Given the description of an element on the screen output the (x, y) to click on. 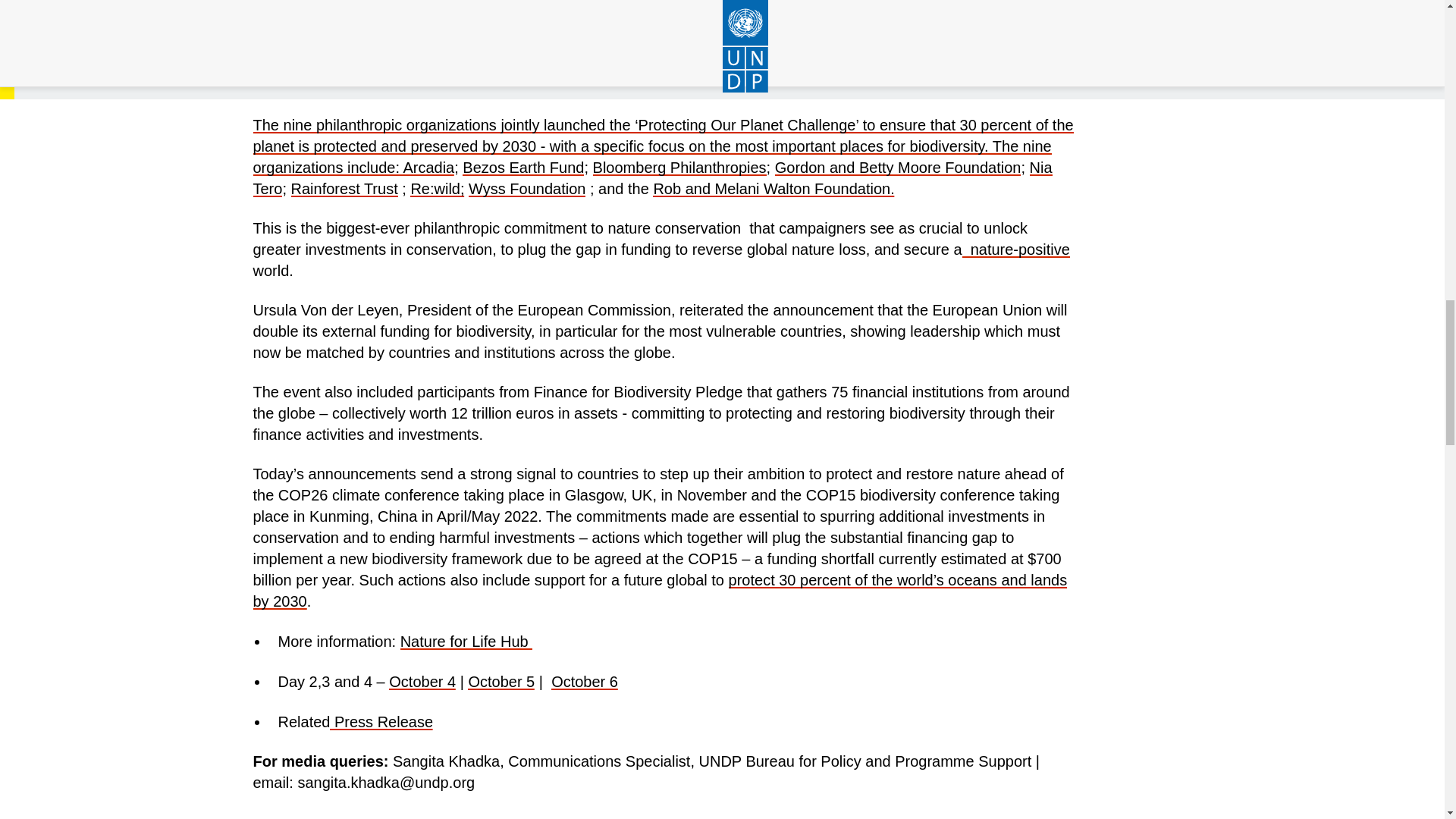
  nature-positive (1016, 248)
Wyss Foundation (526, 188)
Bloomberg Philanthropies (679, 167)
Rainforest Trust (344, 188)
Bezos Earth Fund (523, 167)
Rob and Melani Walton Foundation. (772, 188)
Nia Tero (652, 177)
Re:wild; (437, 188)
October 6 (584, 681)
October 4 (421, 681)
October 5 (500, 681)
Nature for Life Hub (466, 641)
Arcadia (428, 167)
Gordon and Betty Moore Foundation (898, 167)
